Given the description of an element on the screen output the (x, y) to click on. 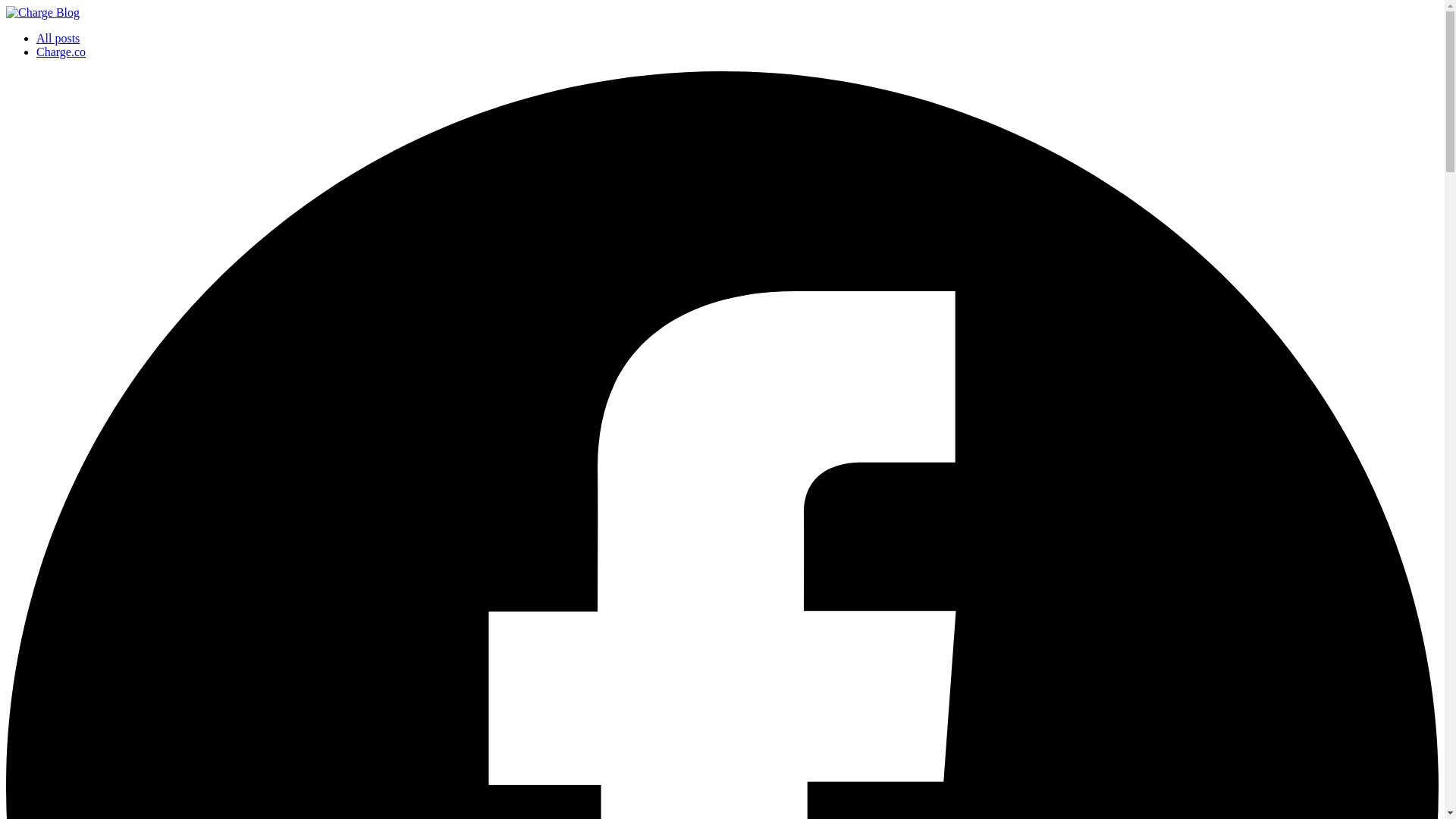
Charge.co (60, 51)
All posts (58, 38)
